Given the description of an element on the screen output the (x, y) to click on. 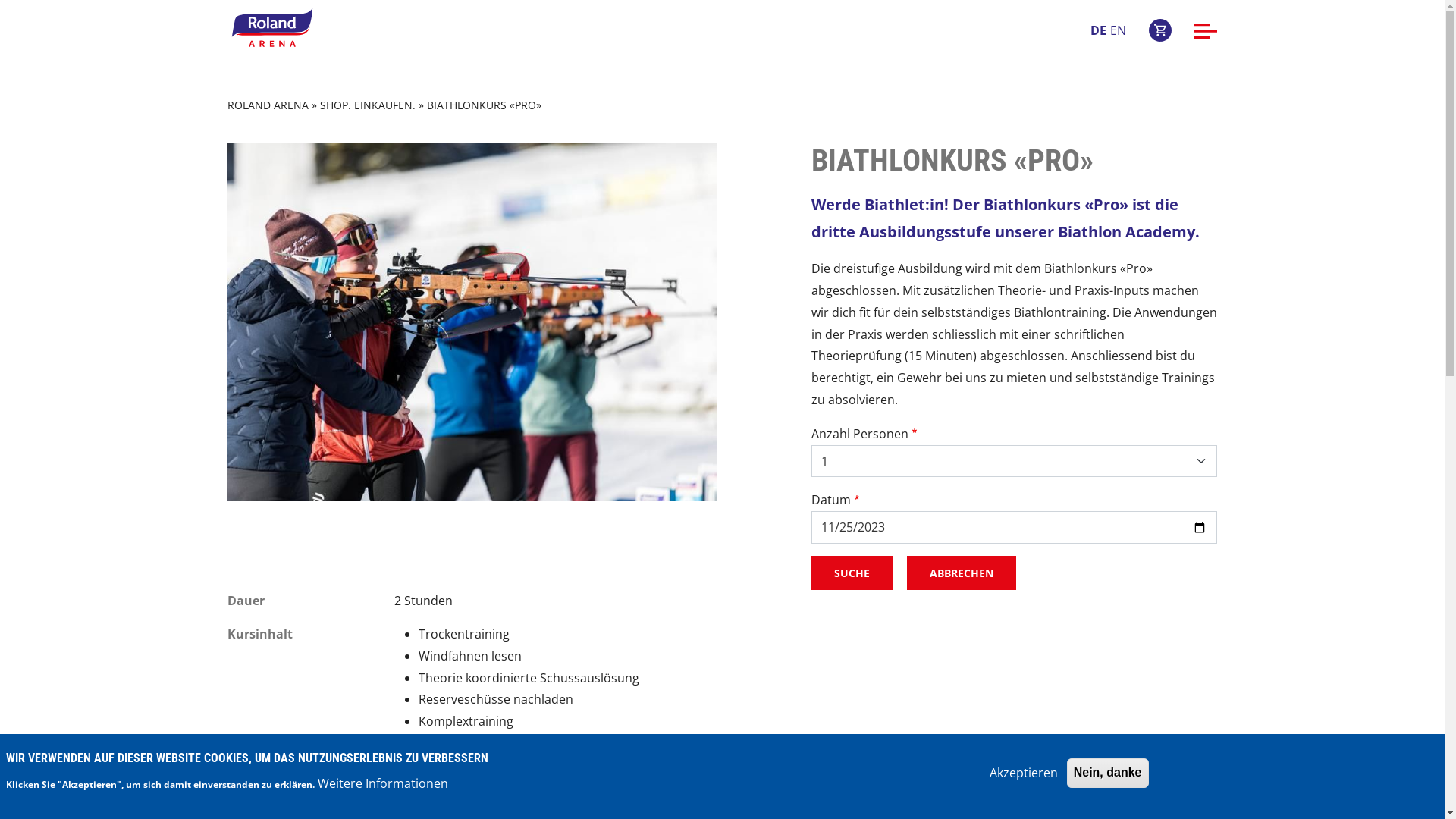
Suche Element type: text (851, 572)
Roland Arena Element type: hover (271, 30)
Weitere Informationen Element type: text (381, 784)
Akzeptieren Element type: text (1023, 773)
ROLAND ARENA Element type: text (267, 104)
Abbrechen Element type: text (961, 572)
Nein, danke Element type: text (1107, 772)
SHOP. EINKAUFEN. Element type: text (367, 104)
DE Element type: text (1098, 29)
EN Element type: text (1118, 29)
